Given the description of an element on the screen output the (x, y) to click on. 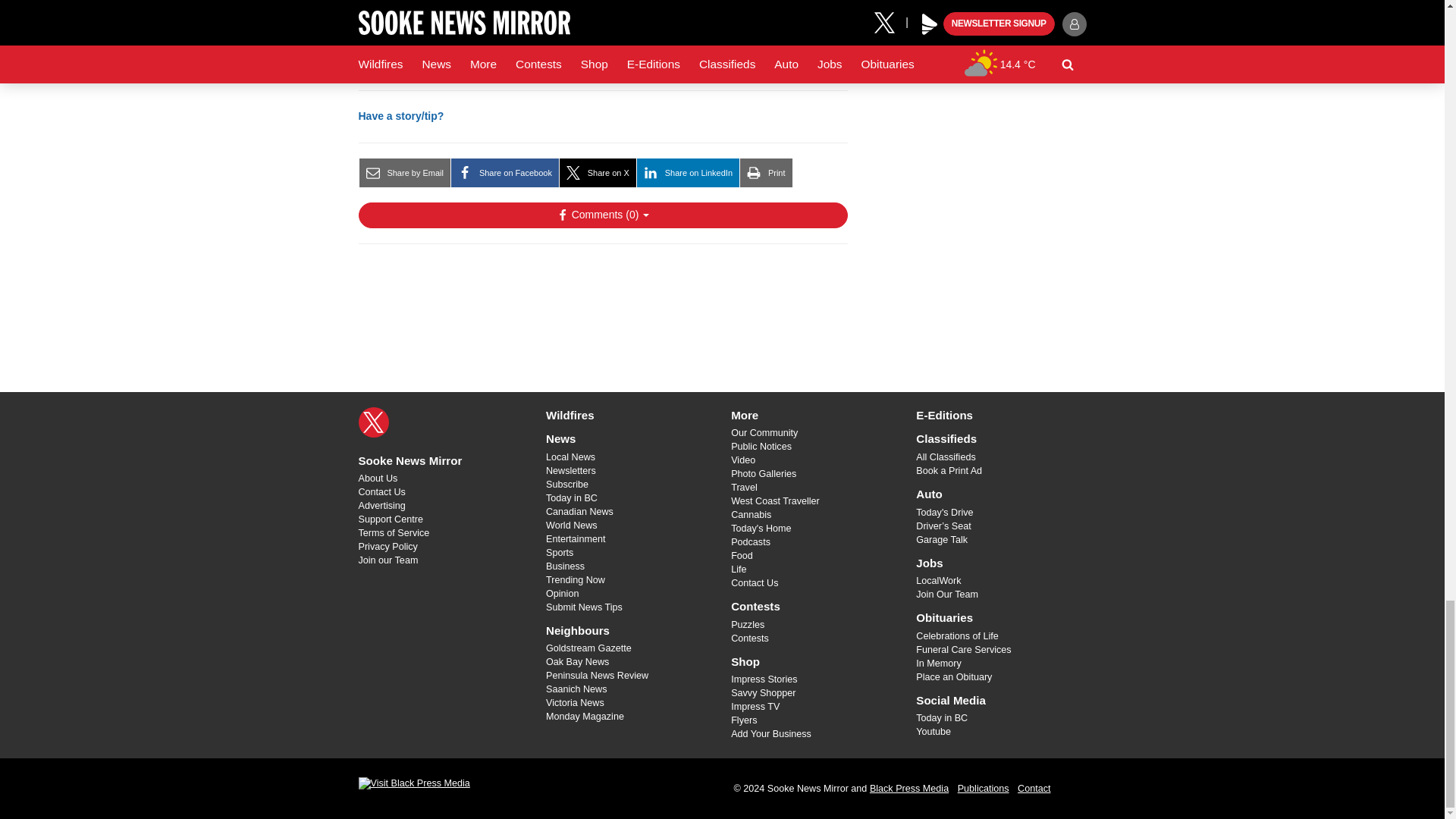
Show Comments (602, 215)
X (373, 422)
